Given the description of an element on the screen output the (x, y) to click on. 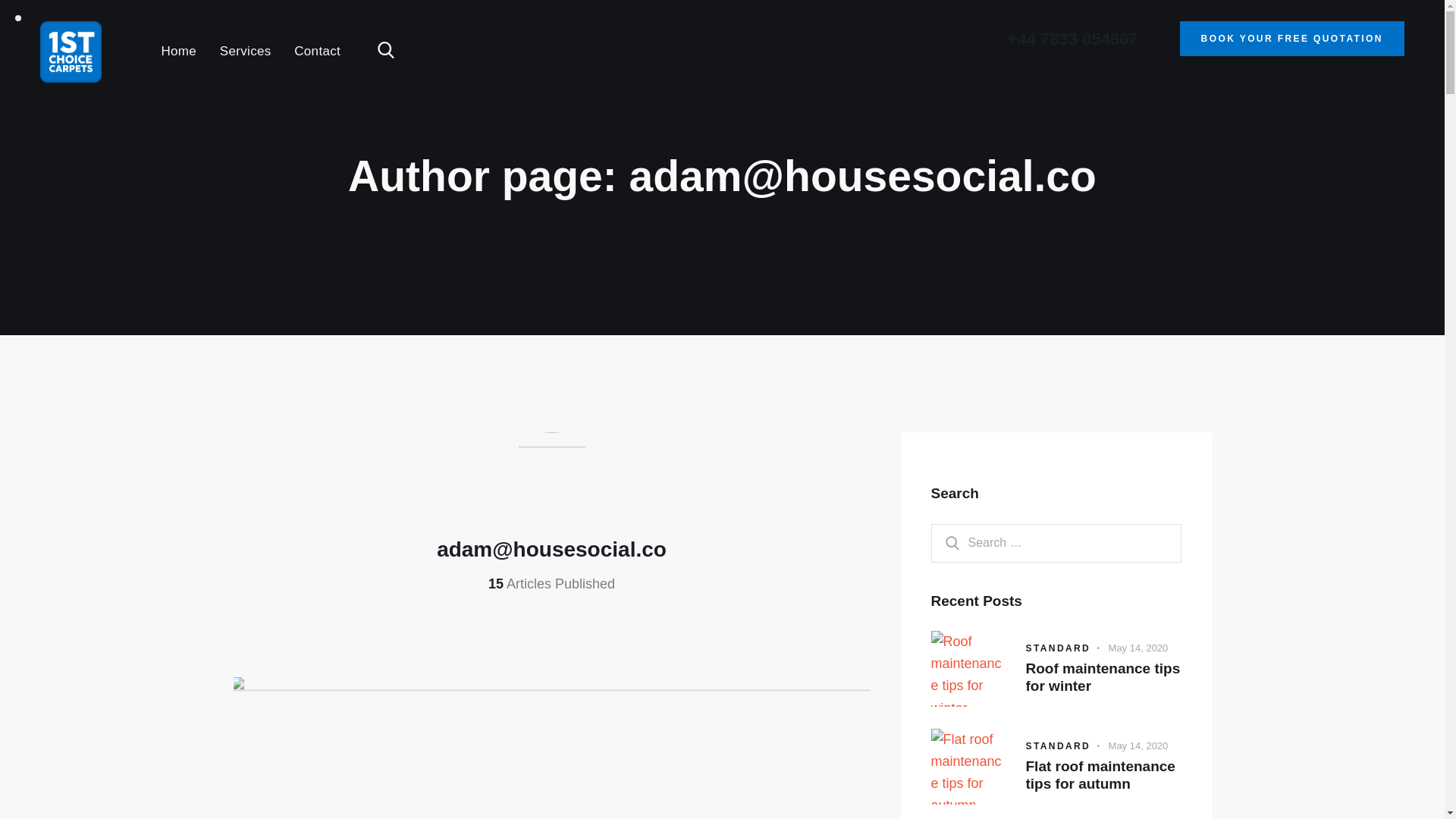
STANDARD Element type: text (1057, 745)
Services Element type: text (244, 52)
Search Element type: text (944, 543)
May 14, 2020 Element type: text (1138, 745)
Flat roof maintenance tips for autumn Element type: text (1102, 775)
May 14, 2020 Element type: text (1138, 647)
Contact Element type: text (317, 52)
STANDARD Element type: text (1057, 648)
BOOK YOUR FREE QUOTATION Element type: text (1291, 38)
+44 7833 054667 Element type: text (1072, 38)
Home Element type: text (178, 52)
Roof maintenance tips for winter Element type: text (1102, 677)
